Given the description of an element on the screen output the (x, y) to click on. 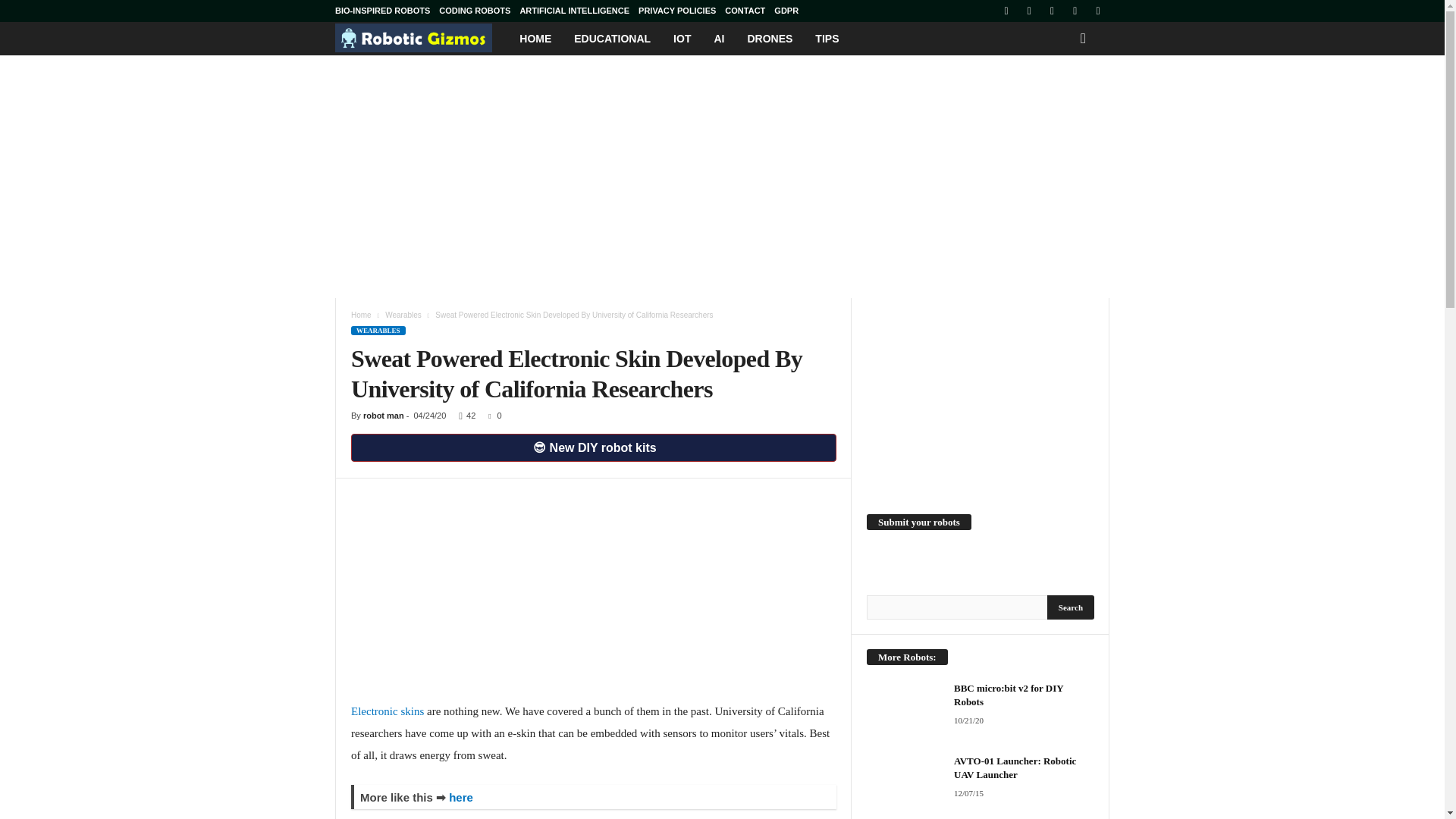
GDPR (785, 10)
PRIVACY POLICIES (677, 10)
HOME (535, 38)
BIO-INSPIRED ROBOTS (381, 10)
Robotic Gizmos (421, 38)
CODING ROBOTS (475, 10)
ARTIFICIAL INTELLIGENCE (573, 10)
Search (1070, 607)
CONTACT (745, 10)
